Given the description of an element on the screen output the (x, y) to click on. 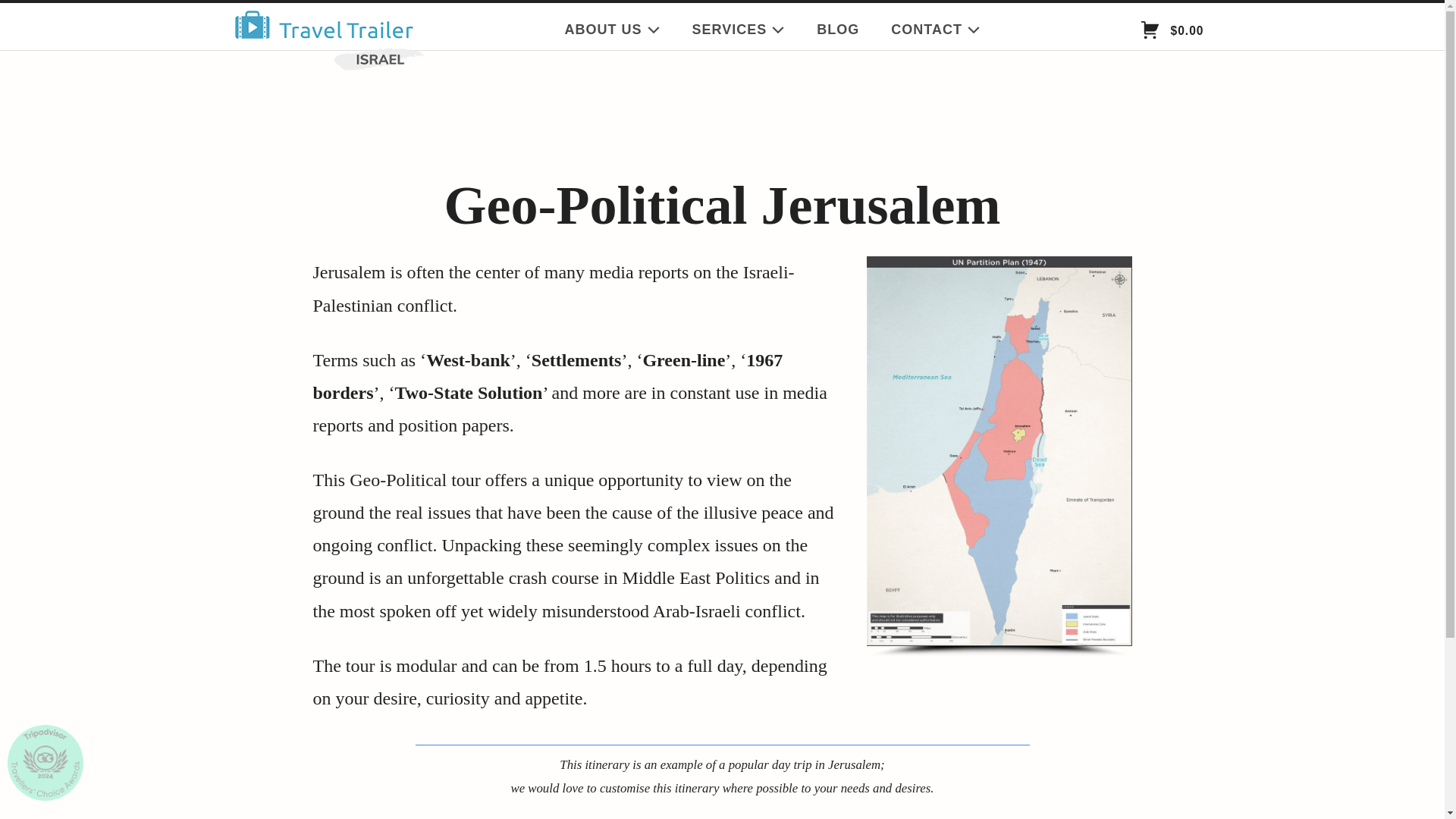
VIEW YOUR SHOPPING CART (1149, 29)
CONTACT (935, 30)
SERVICES (738, 30)
BLOG (837, 30)
View your shopping cart (1170, 31)
ABOUT US (612, 30)
